Given the description of an element on the screen output the (x, y) to click on. 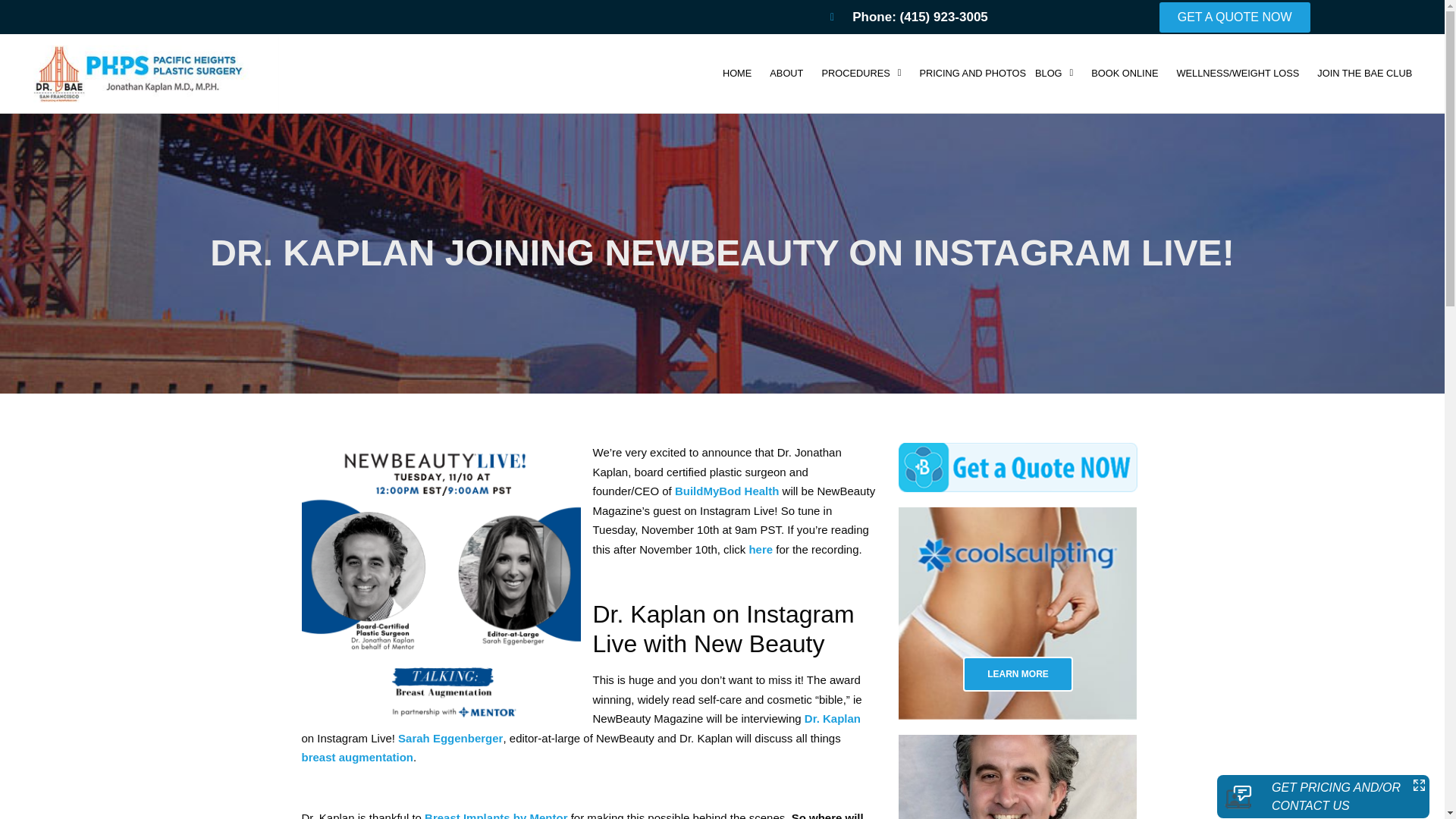
ABOUT (786, 73)
HOME (736, 73)
PROCEDURES (861, 73)
GET A QUOTE NOW (1234, 16)
